Given the description of an element on the screen output the (x, y) to click on. 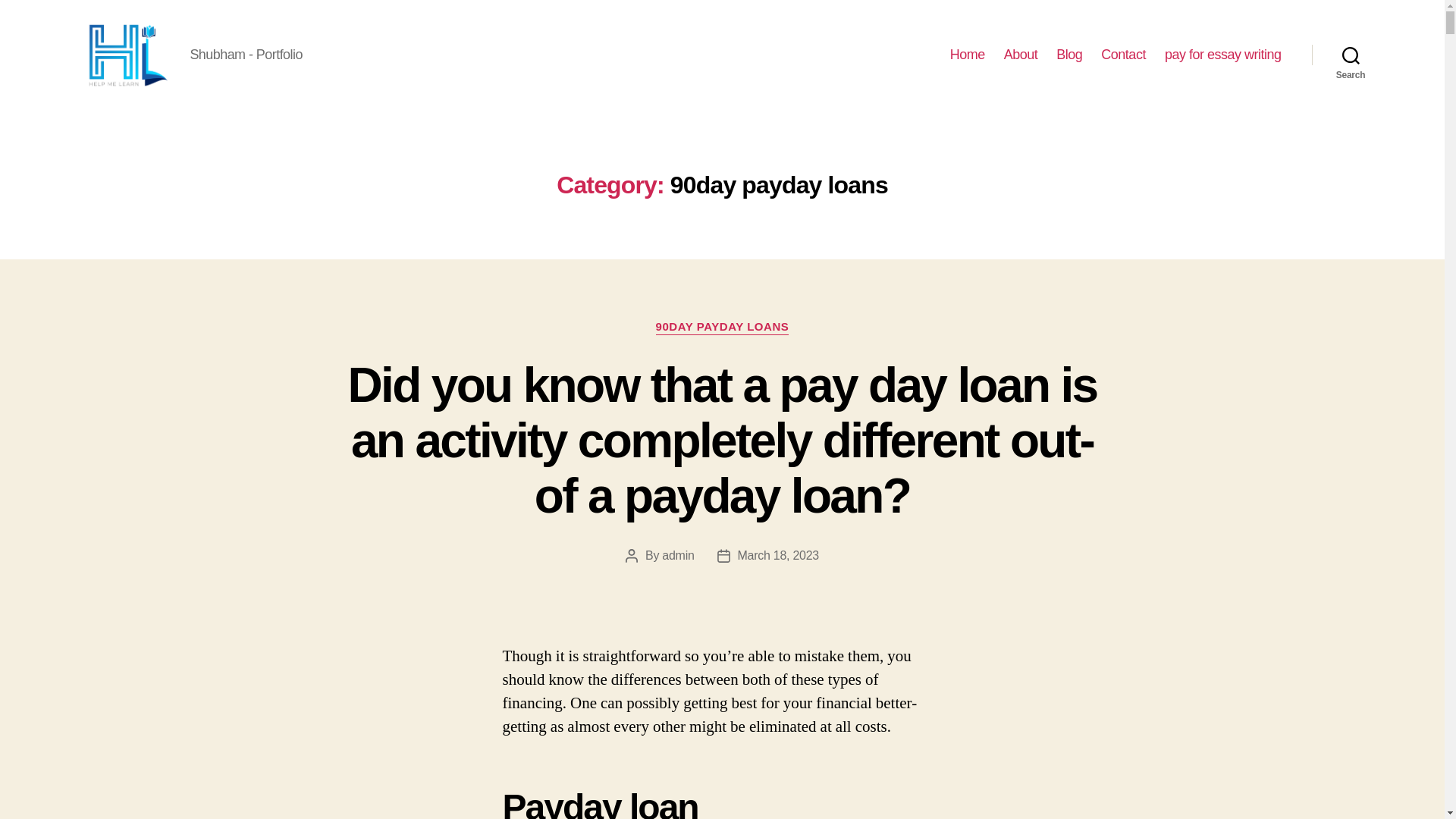
Home (967, 54)
Blog (1069, 54)
About (1021, 54)
admin (678, 554)
pay for essay writing (1222, 54)
March 18, 2023 (778, 554)
Search (1350, 55)
Contact (1122, 54)
90DAY PAYDAY LOANS (722, 327)
